Given the description of an element on the screen output the (x, y) to click on. 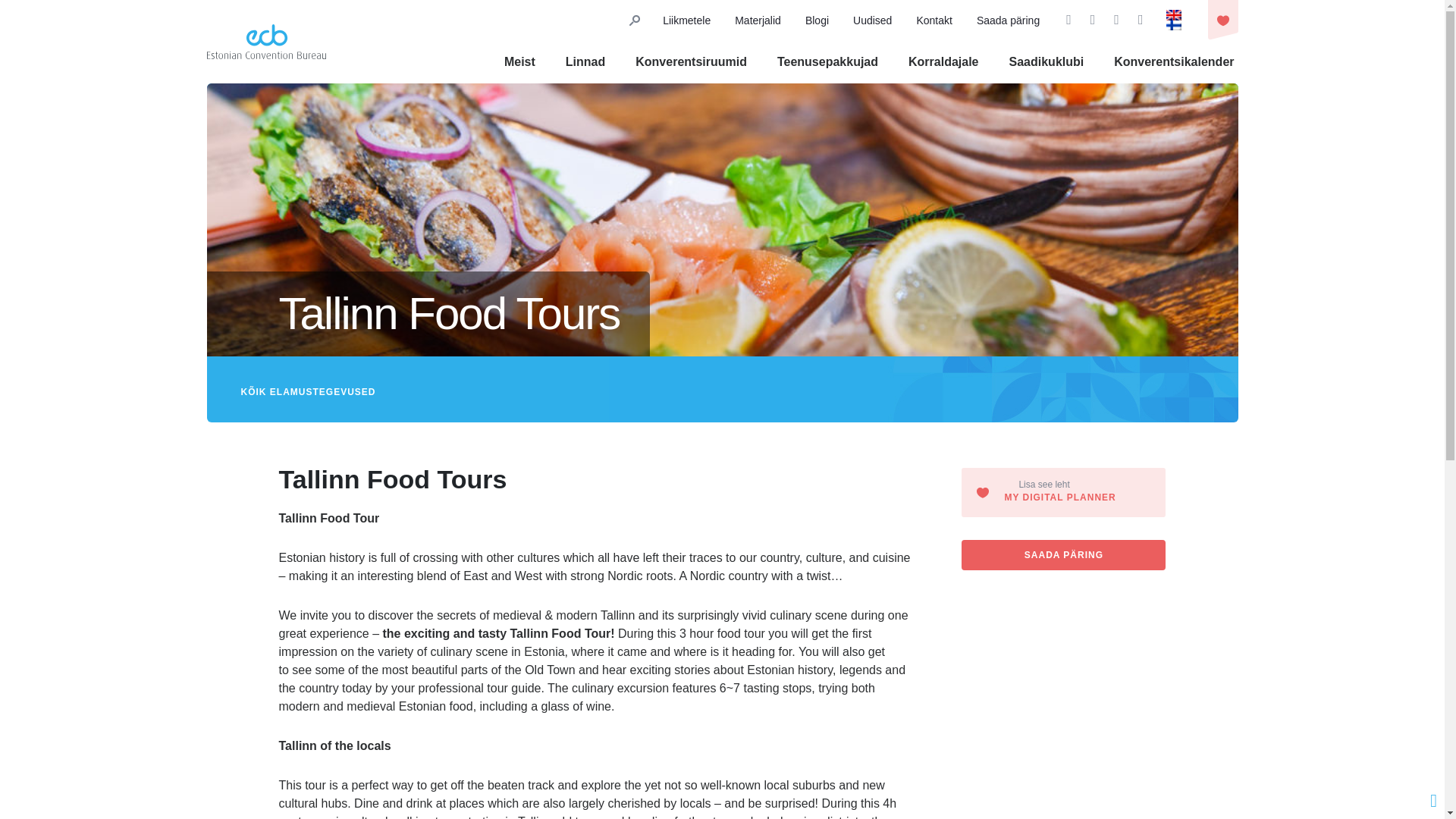
Uudised (872, 19)
Konverentsiruumid (690, 60)
Linnad (585, 60)
Kontakt (933, 19)
Materjalid (757, 19)
Blogi (816, 19)
Meist (519, 60)
Liikmetele (686, 19)
Otsi (1002, 98)
